Given the description of an element on the screen output the (x, y) to click on. 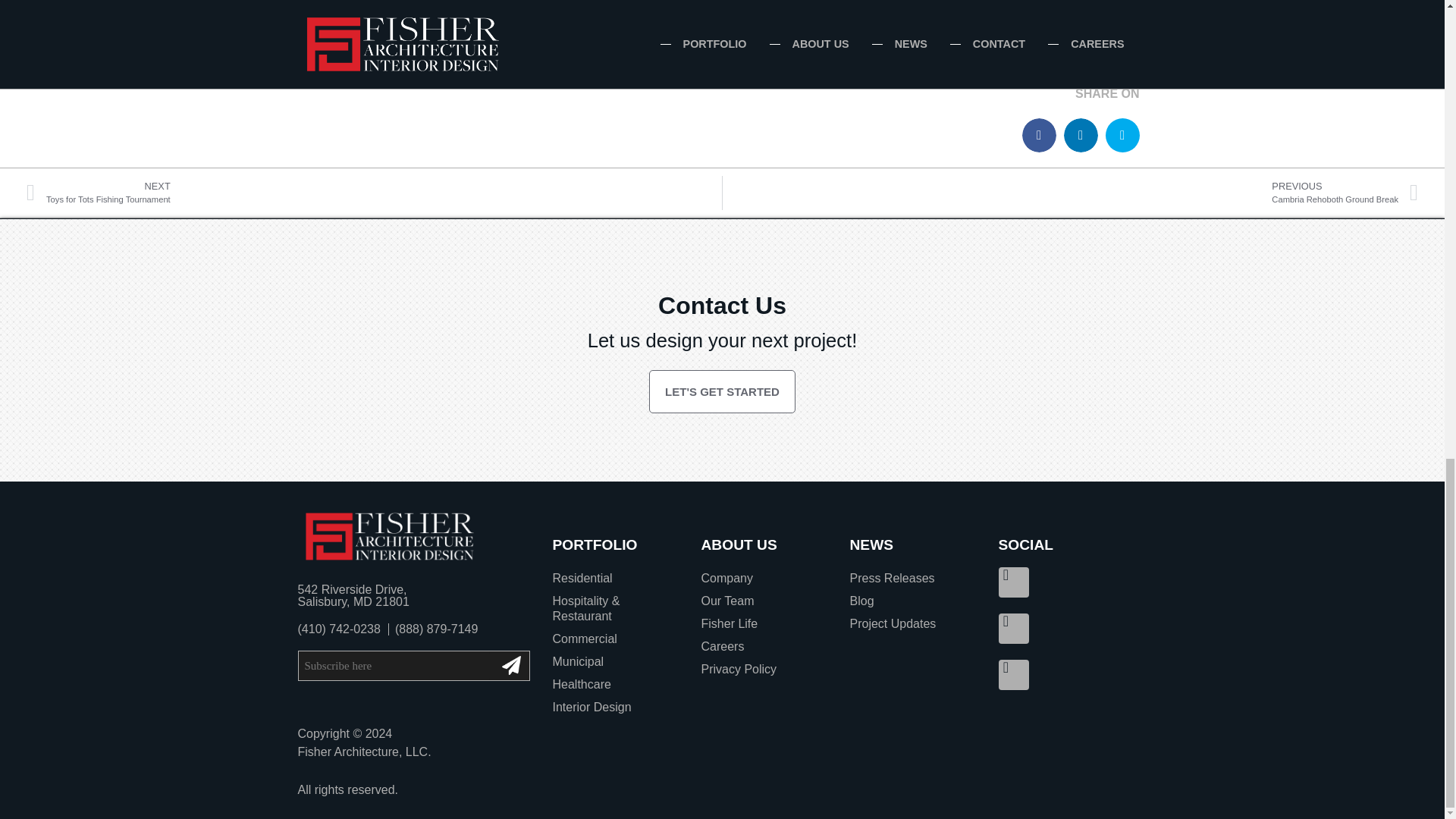
Municipal (1075, 192)
Commercial (368, 192)
LET'S GET STARTED (614, 661)
Residential (614, 639)
